Given the description of an element on the screen output the (x, y) to click on. 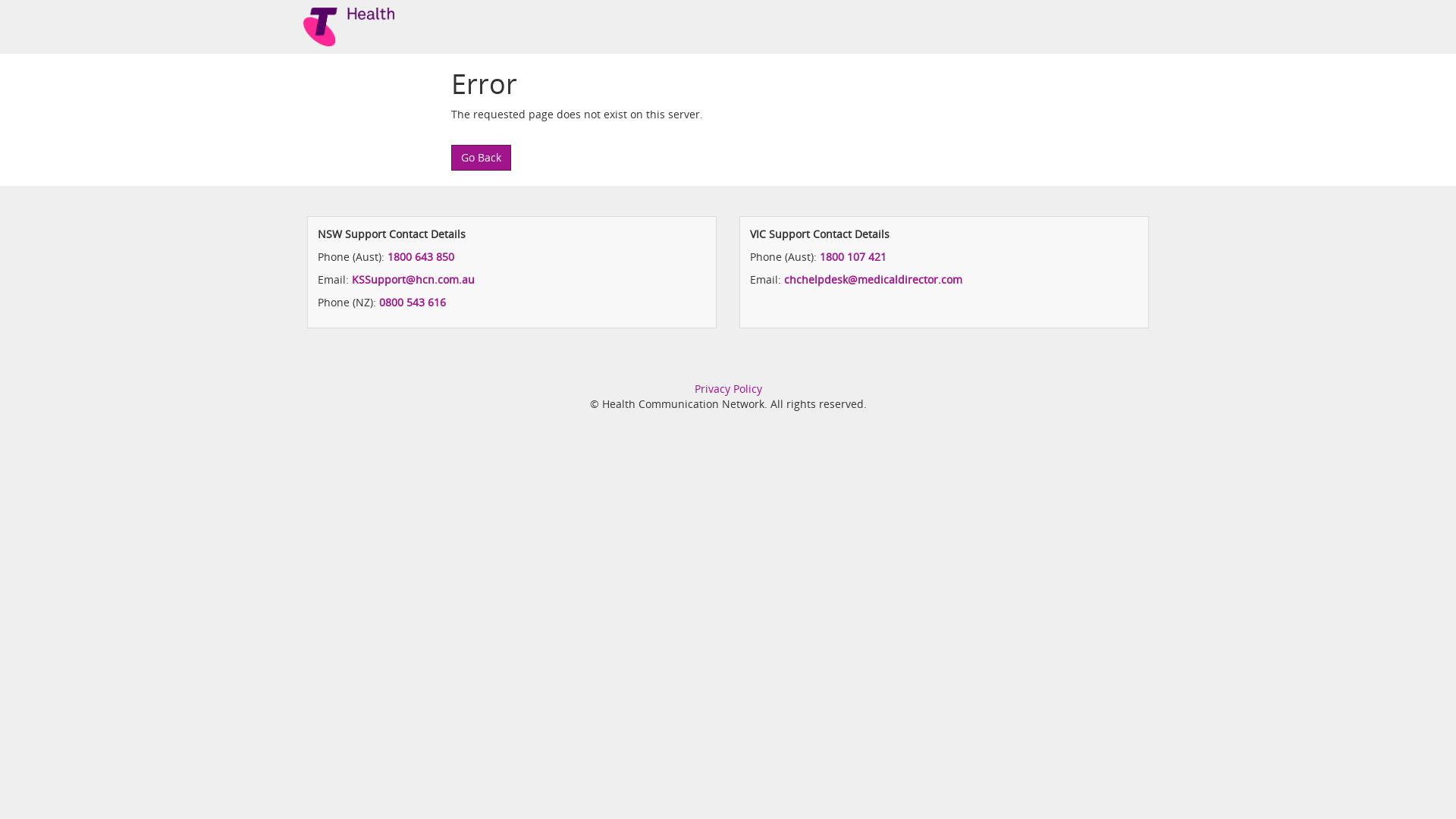
1800 107 421 Element type: text (852, 256)
KSSupport@hcn.com.au Element type: text (412, 279)
chchelpdesk@medicaldirector.com Element type: text (873, 279)
1800 643 850 Element type: text (420, 256)
0800 543 616 Element type: text (412, 301)
Privacy Policy Element type: text (728, 388)
Go Back Element type: text (481, 157)
